Given the description of an element on the screen output the (x, y) to click on. 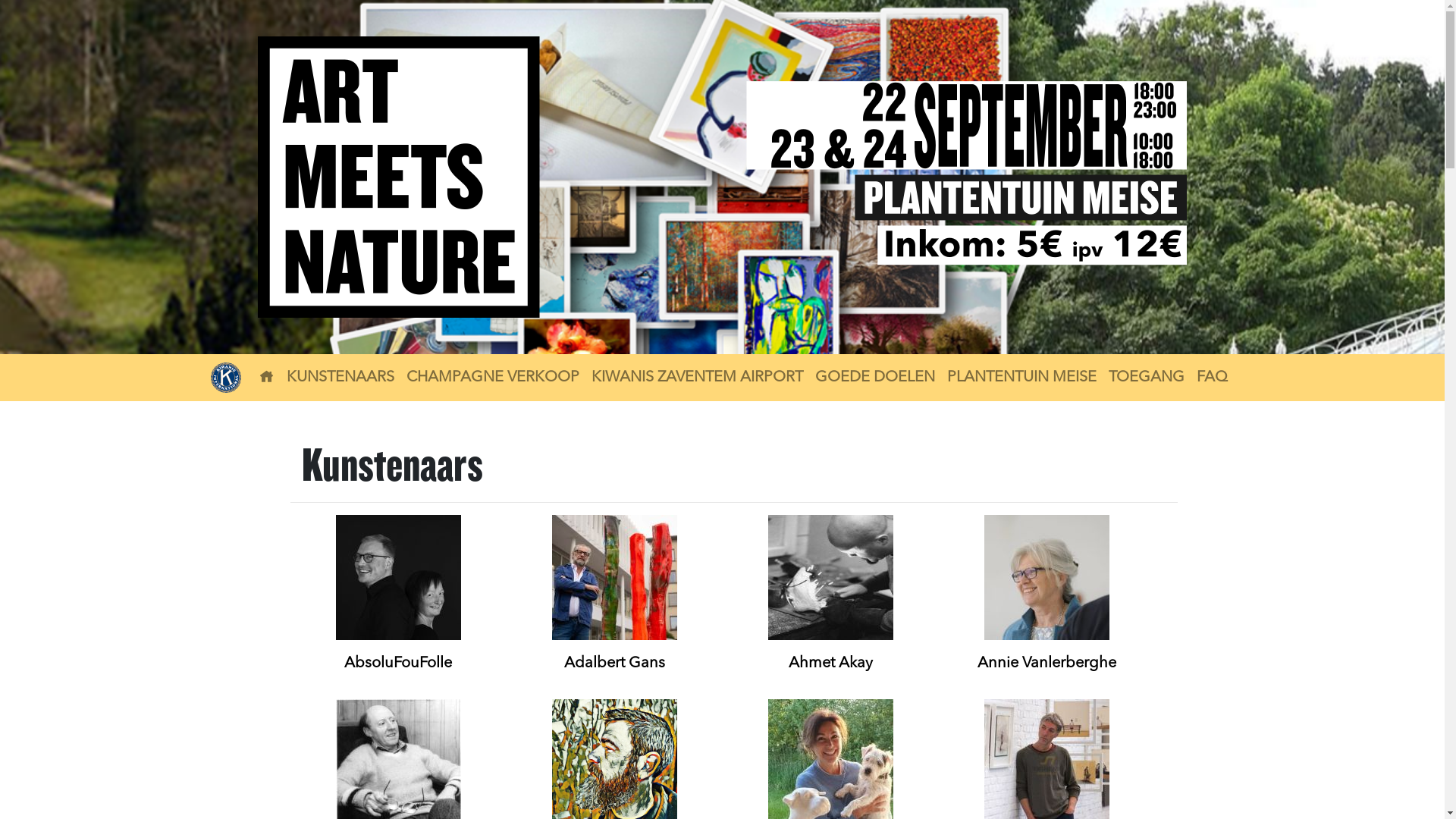
Ahmet Akay Element type: text (830, 663)
TOEGANG Element type: text (1146, 377)
KIWANIS ZAVENTEM AIRPORT Element type: text (697, 377)
FAQ Element type: text (1211, 377)
PLANTENTUIN MEISE Element type: text (1021, 377)
AbsoluFouFolle Element type: text (397, 663)
KUNSTENAARS Element type: text (340, 377)
GOEDE DOELEN Element type: text (875, 377)
Adalbert Gans Element type: text (614, 663)
CHAMPAGNE VERKOOP Element type: text (492, 377)
Annie Vanlerberghe Element type: text (1045, 663)
